Given the description of an element on the screen output the (x, y) to click on. 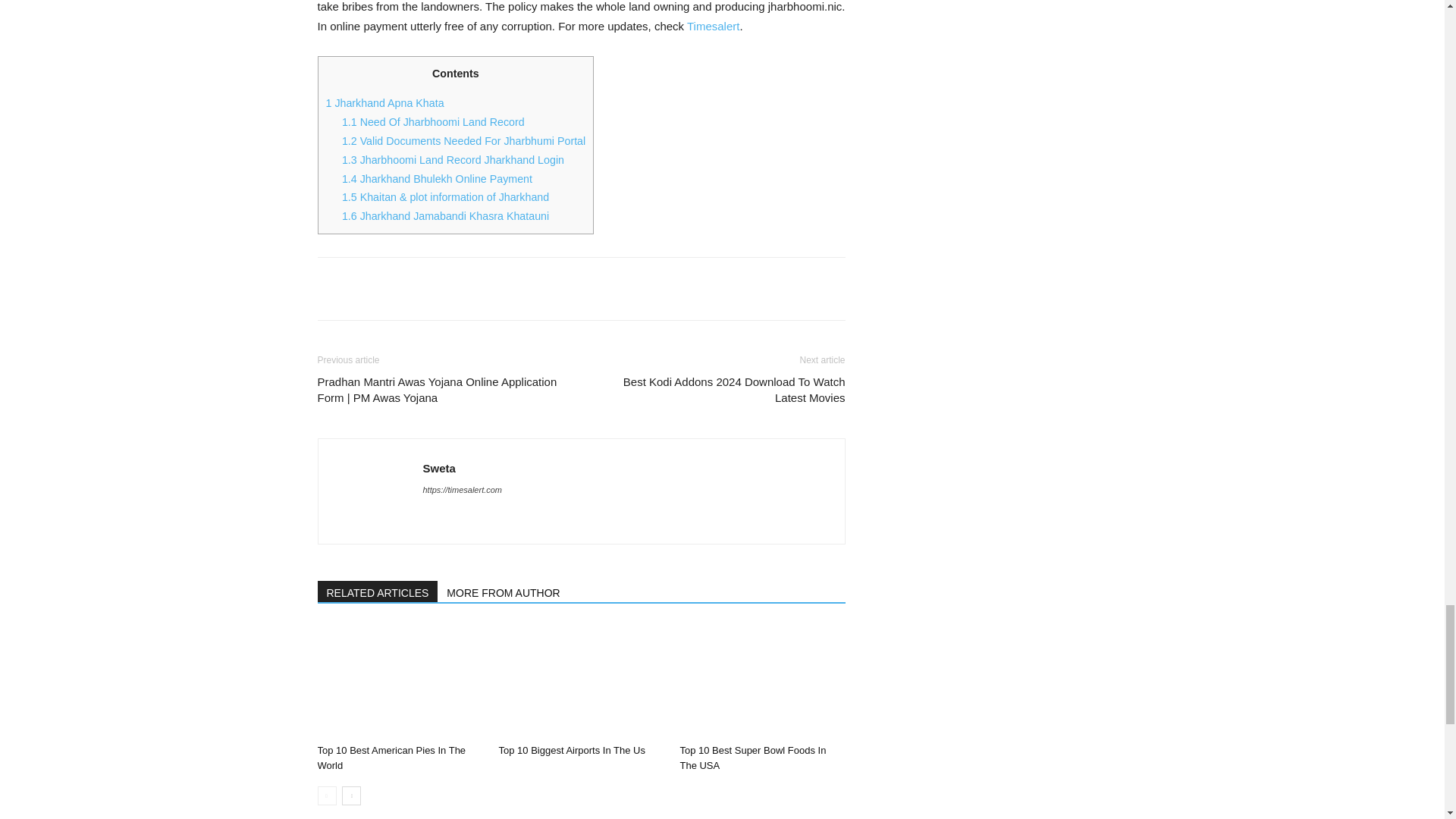
1.1 Need Of Jharbhoomi Land Record (433, 121)
1.3 Jharbhoomi Land Record Jharkhand Login (453, 159)
1.4 Jharkhand Bhulekh Online Payment (437, 178)
1.6 Jharkhand Jamabandi Khasra Khatauni (445, 215)
1.2 Valid Documents Needed For Jharbhumi Portal (463, 141)
1 Jharkhand Apna Khata (385, 102)
Timesalert (713, 25)
